Given the description of an element on the screen output the (x, y) to click on. 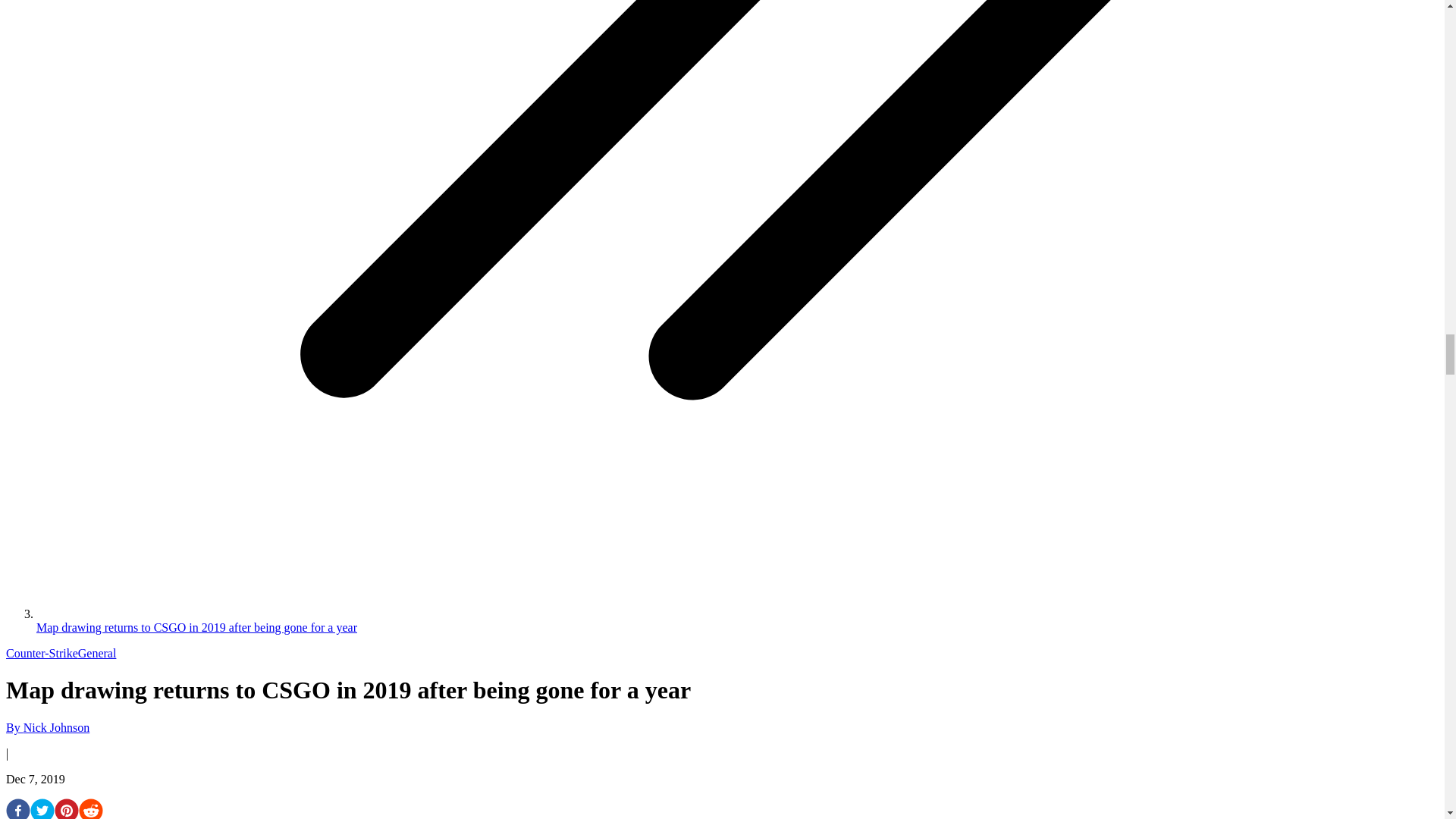
By Nick Johnson (46, 727)
Counter-Strike (41, 653)
General (97, 653)
